Given the description of an element on the screen output the (x, y) to click on. 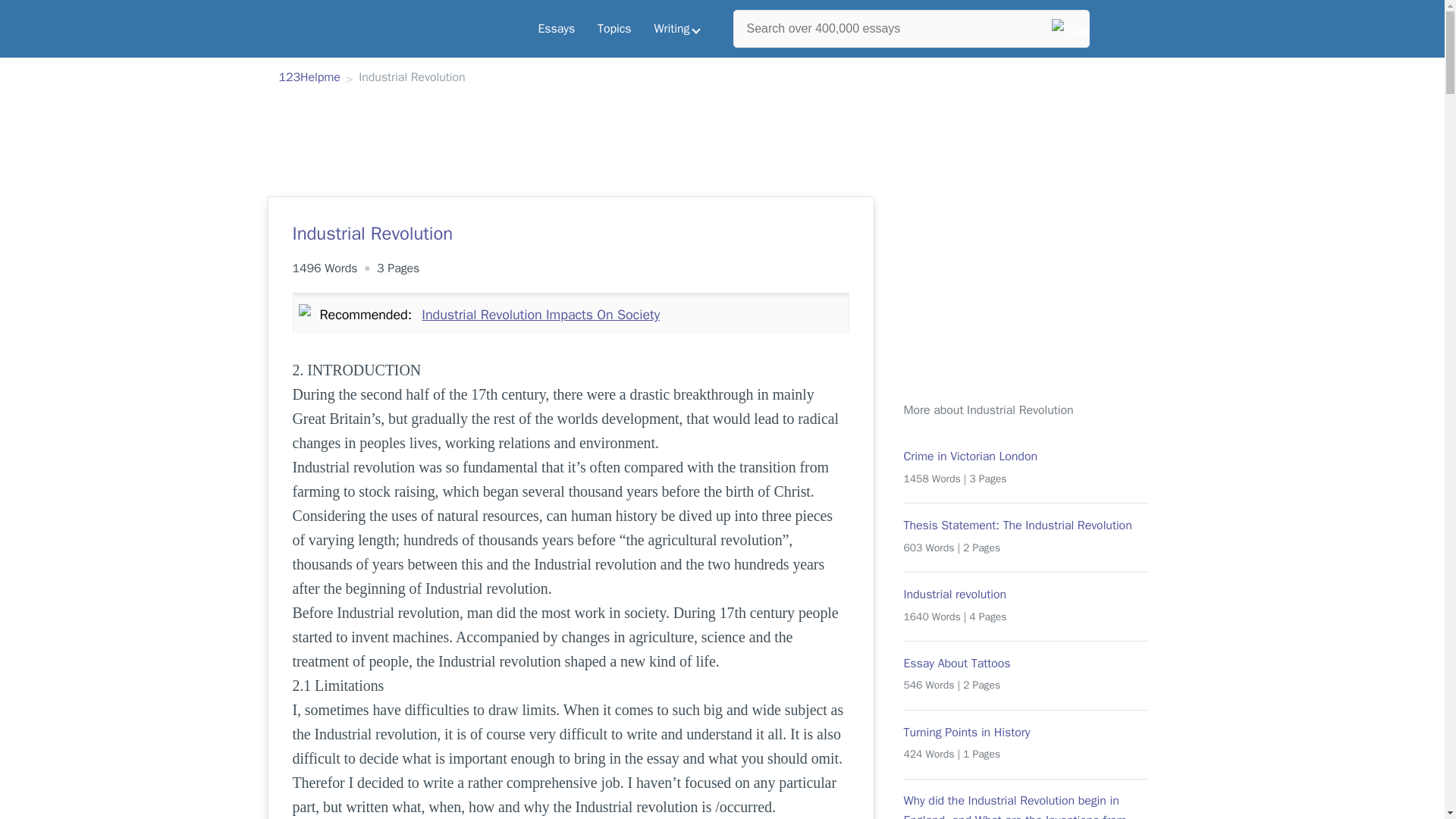
Industrial Revolution Impacts On Society (540, 314)
Essays (555, 28)
Writing (677, 28)
123Helpme (309, 78)
Topics (614, 28)
